Given the description of an element on the screen output the (x, y) to click on. 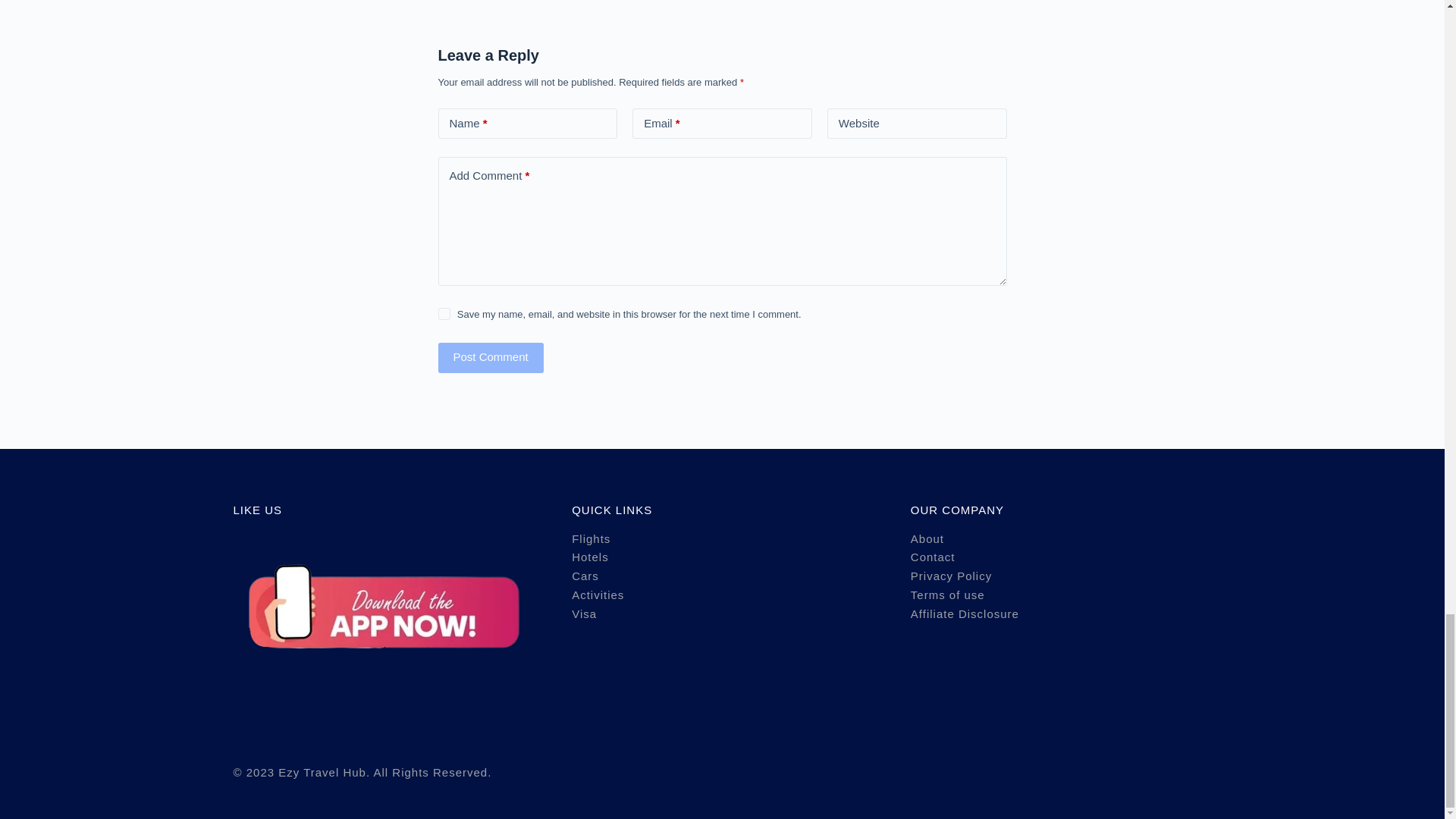
yes (443, 313)
